Given the description of an element on the screen output the (x, y) to click on. 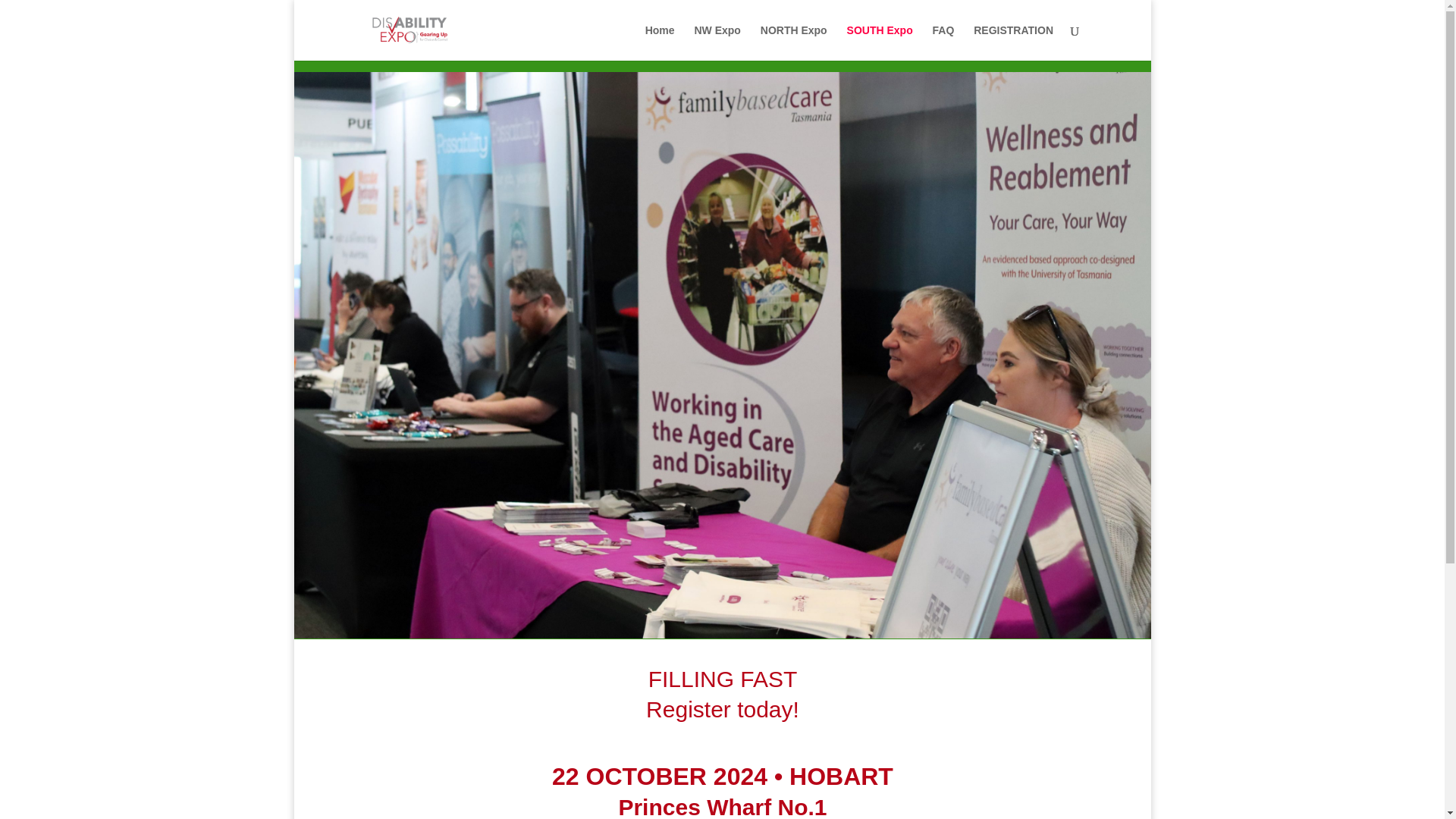
NW Expo (716, 42)
NORTH Expo (793, 42)
REGISTRATION (1013, 42)
SOUTH Expo (879, 42)
